Given the description of an element on the screen output the (x, y) to click on. 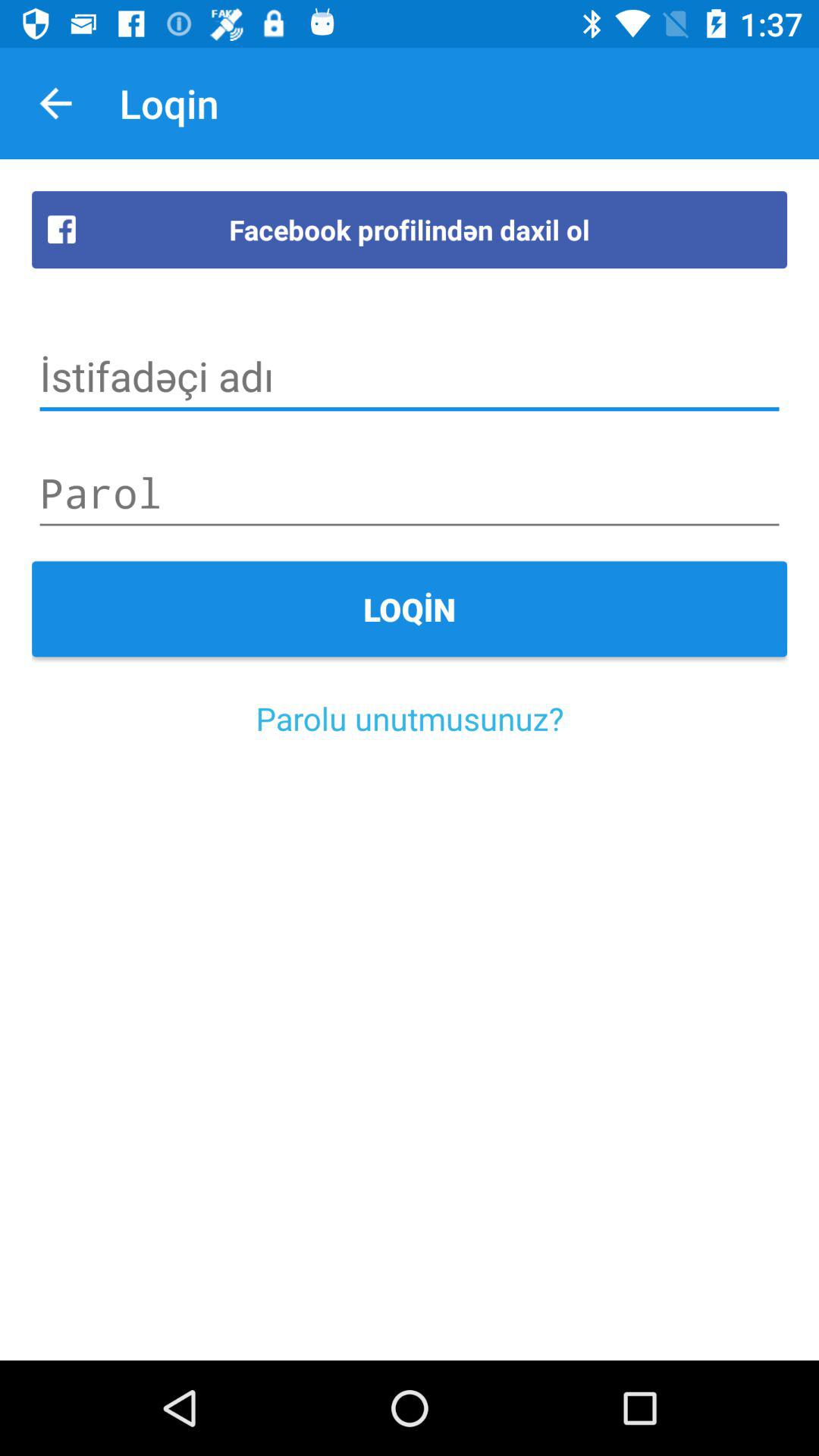
password (409, 492)
